Given the description of an element on the screen output the (x, y) to click on. 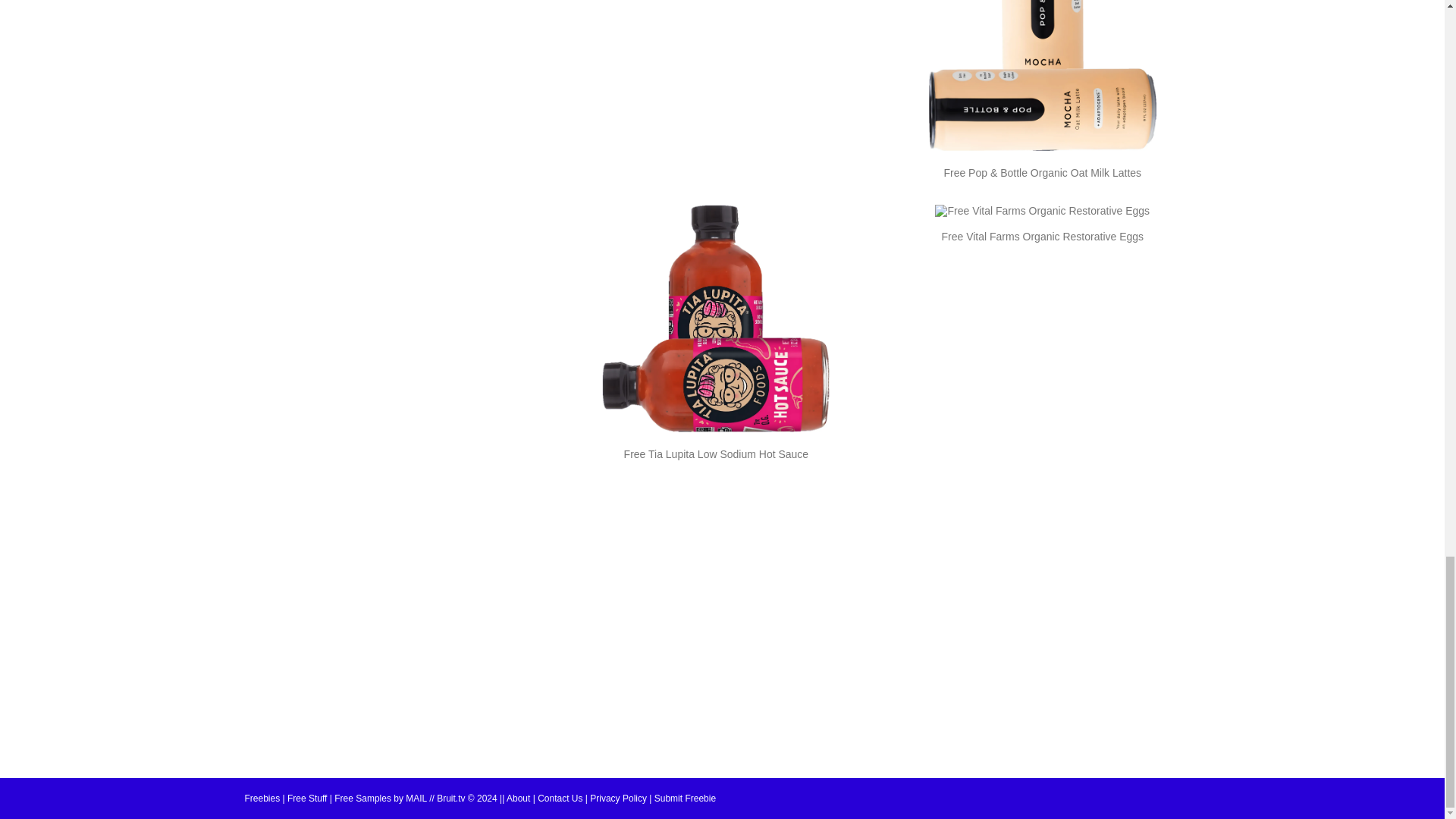
Free Vital Farms Organic Restorative Eggs (1041, 236)
Free Tia Lupita Low Sodium Hot Sauce (716, 453)
